Given the description of an element on the screen output the (x, y) to click on. 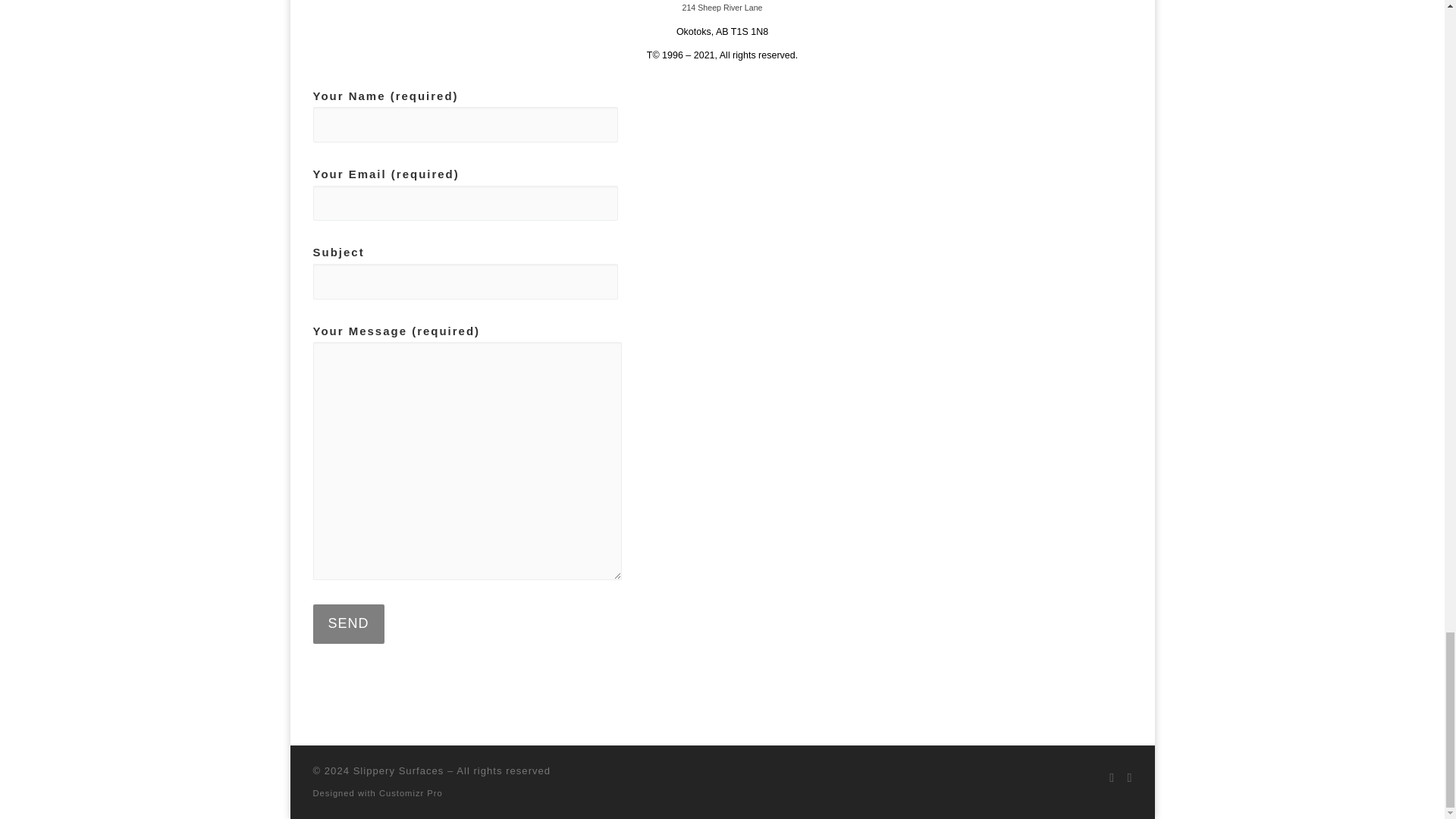
Send (348, 623)
Slippery Surfaces (398, 770)
Customizr Pro (410, 792)
Send (348, 623)
Slippery Surfaces (398, 770)
Customizr Pro (410, 792)
